Given the description of an element on the screen output the (x, y) to click on. 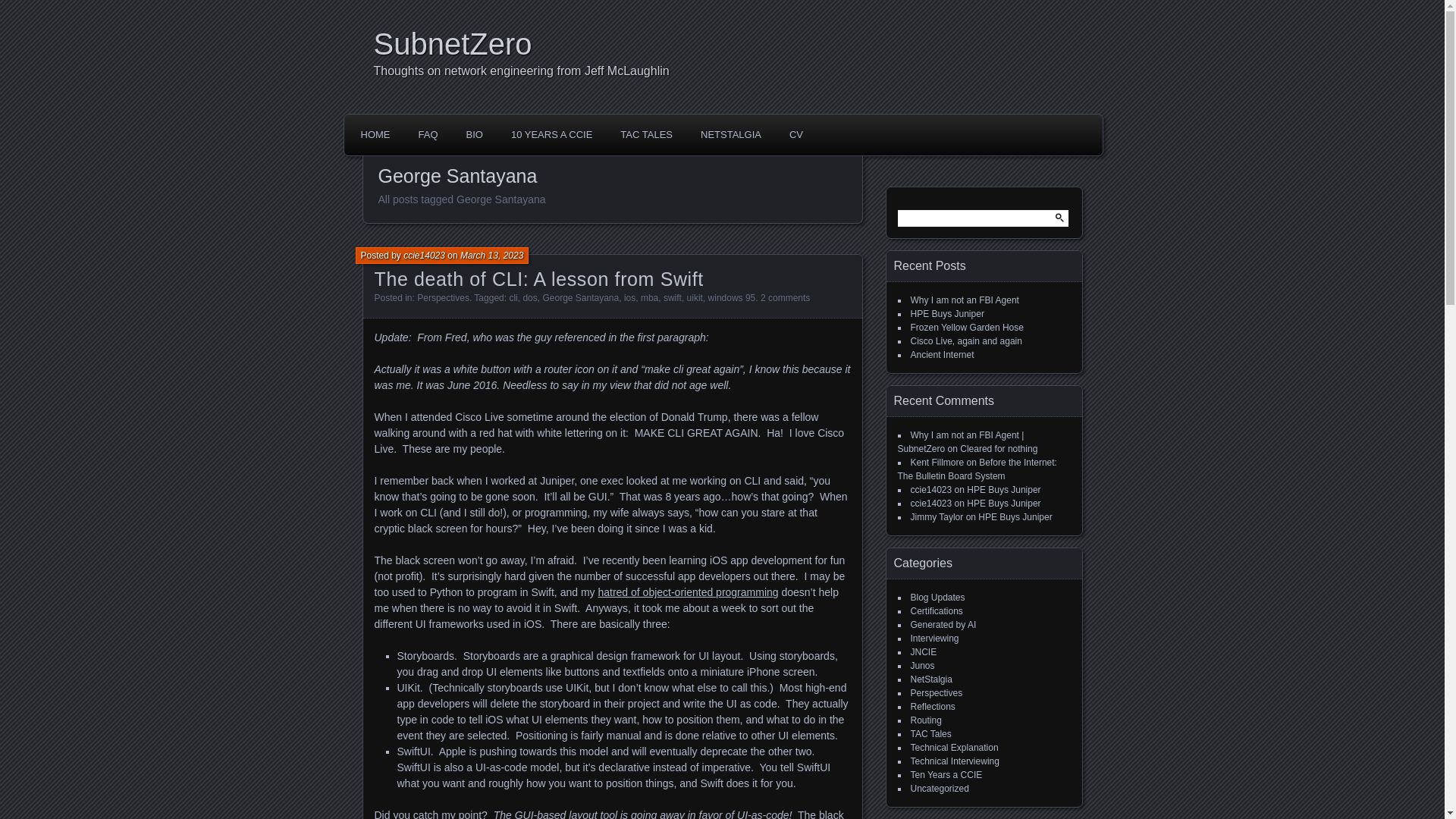
Ancient Internet (942, 354)
HPE Buys Juniper (947, 313)
ccie14023 (424, 255)
Search (21, 7)
mba (649, 297)
CV (795, 134)
windows 95 (731, 297)
hatred of object-oriented programming (686, 592)
HOME (375, 134)
Perspectives (442, 297)
